Given the description of an element on the screen output the (x, y) to click on. 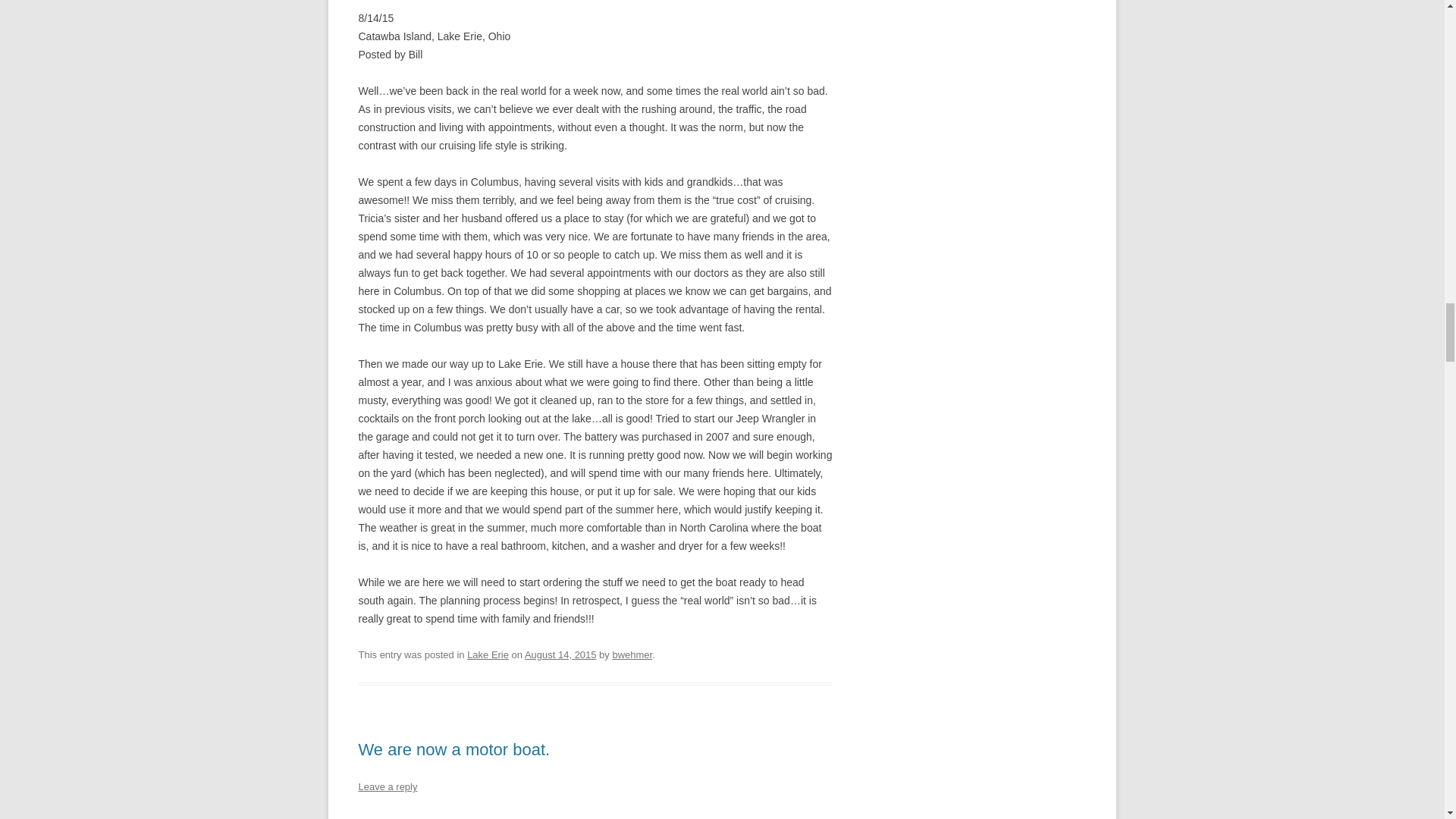
1:32 pm (560, 654)
View all posts by bwehmer (631, 654)
Lake Erie (487, 654)
